Given the description of an element on the screen output the (x, y) to click on. 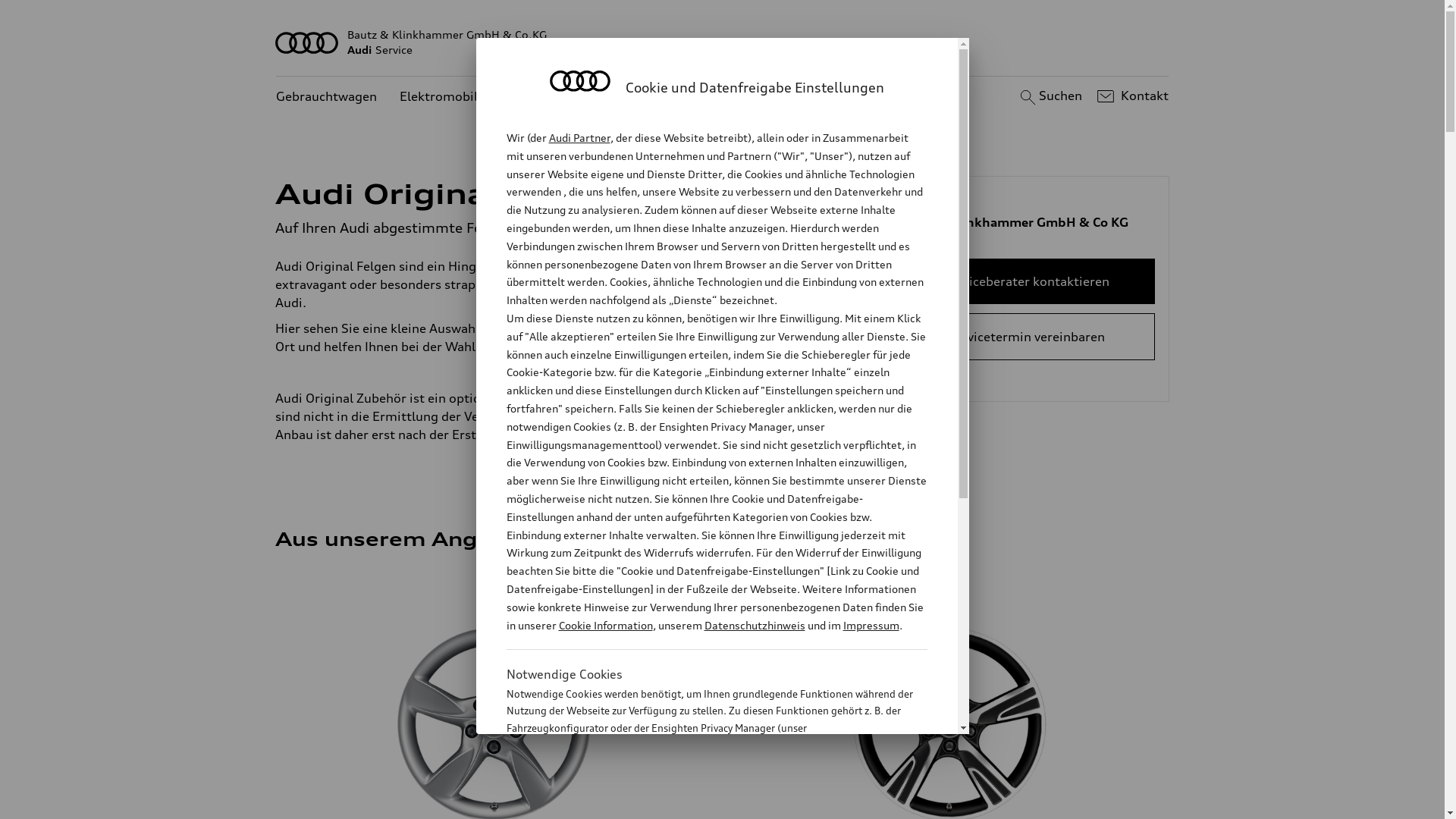
Servicetermin vereinbaren Element type: text (1025, 336)
Audi Partner Element type: text (579, 137)
Gebrauchtwagen Element type: text (326, 96)
Serviceberater kontaktieren Element type: text (1025, 281)
Suchen Element type: text (1049, 96)
Cookie Information Element type: text (605, 624)
Impressum Element type: text (871, 624)
Kundenservice Element type: text (645, 96)
Datenschutzhinweis Element type: text (753, 624)
Angebote Element type: text (550, 96)
Kontakt Element type: text (1130, 96)
Cookie Information Element type: text (700, 802)
Bautz & Klinkhammer GmbH & Co.KG
AudiService Element type: text (722, 42)
